Given the description of an element on the screen output the (x, y) to click on. 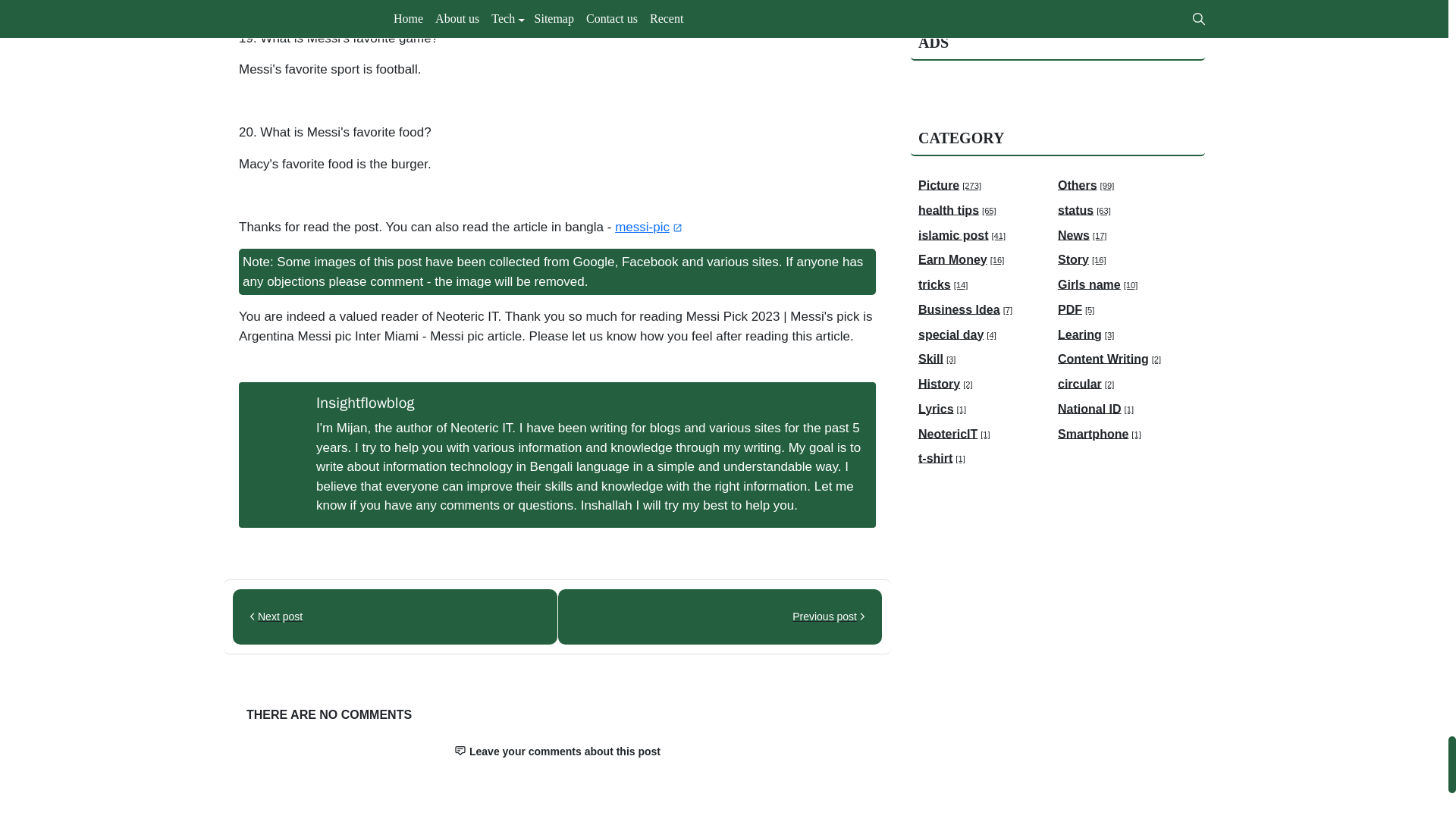
Next post (394, 616)
Leave your comments about this post (557, 751)
messi-pic (649, 227)
Previous post (719, 616)
